Given the description of an element on the screen output the (x, y) to click on. 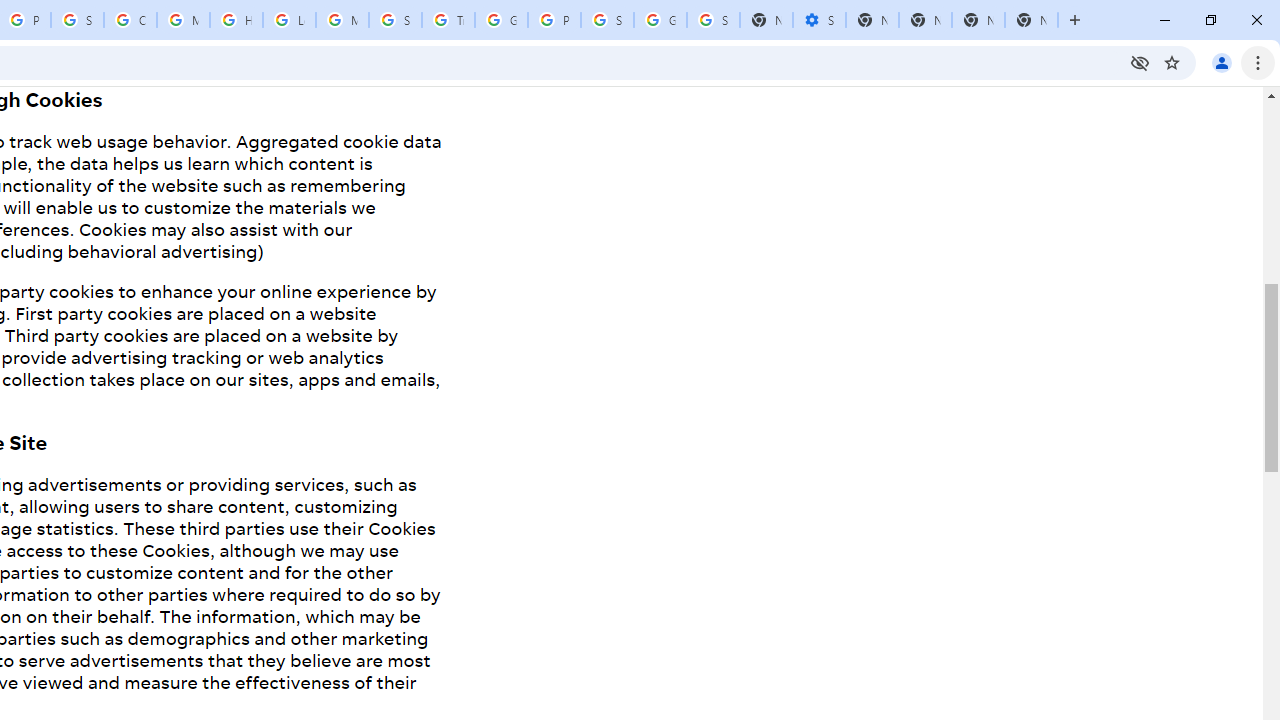
Search our Doodle Library Collection - Google Doodles (395, 20)
Google Cybersecurity Innovations - Google Safety Center (660, 20)
Settings - Performance (819, 20)
